Given the description of an element on the screen output the (x, y) to click on. 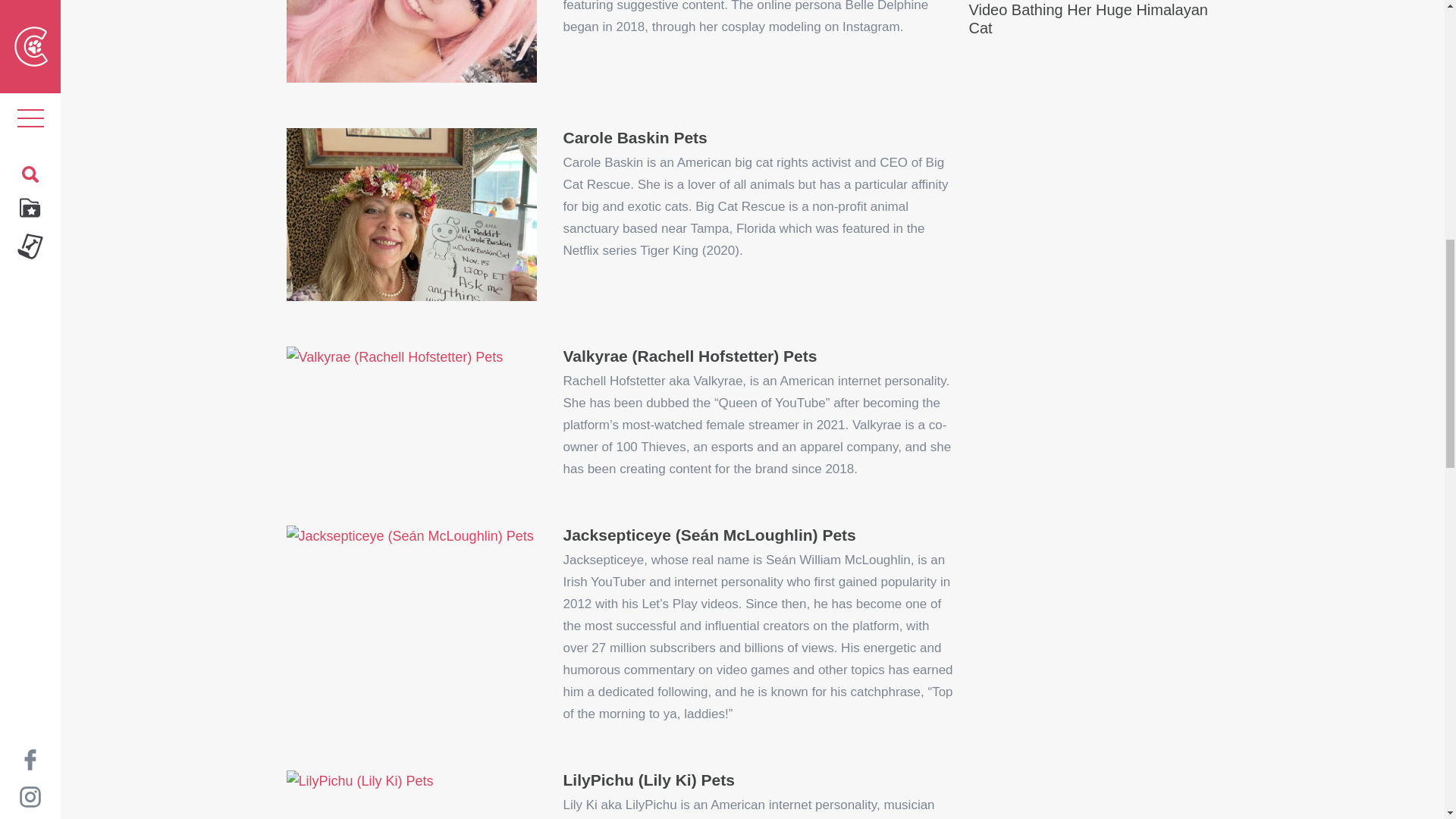
Belle Delphine Pets (411, 41)
